Given the description of an element on the screen output the (x, y) to click on. 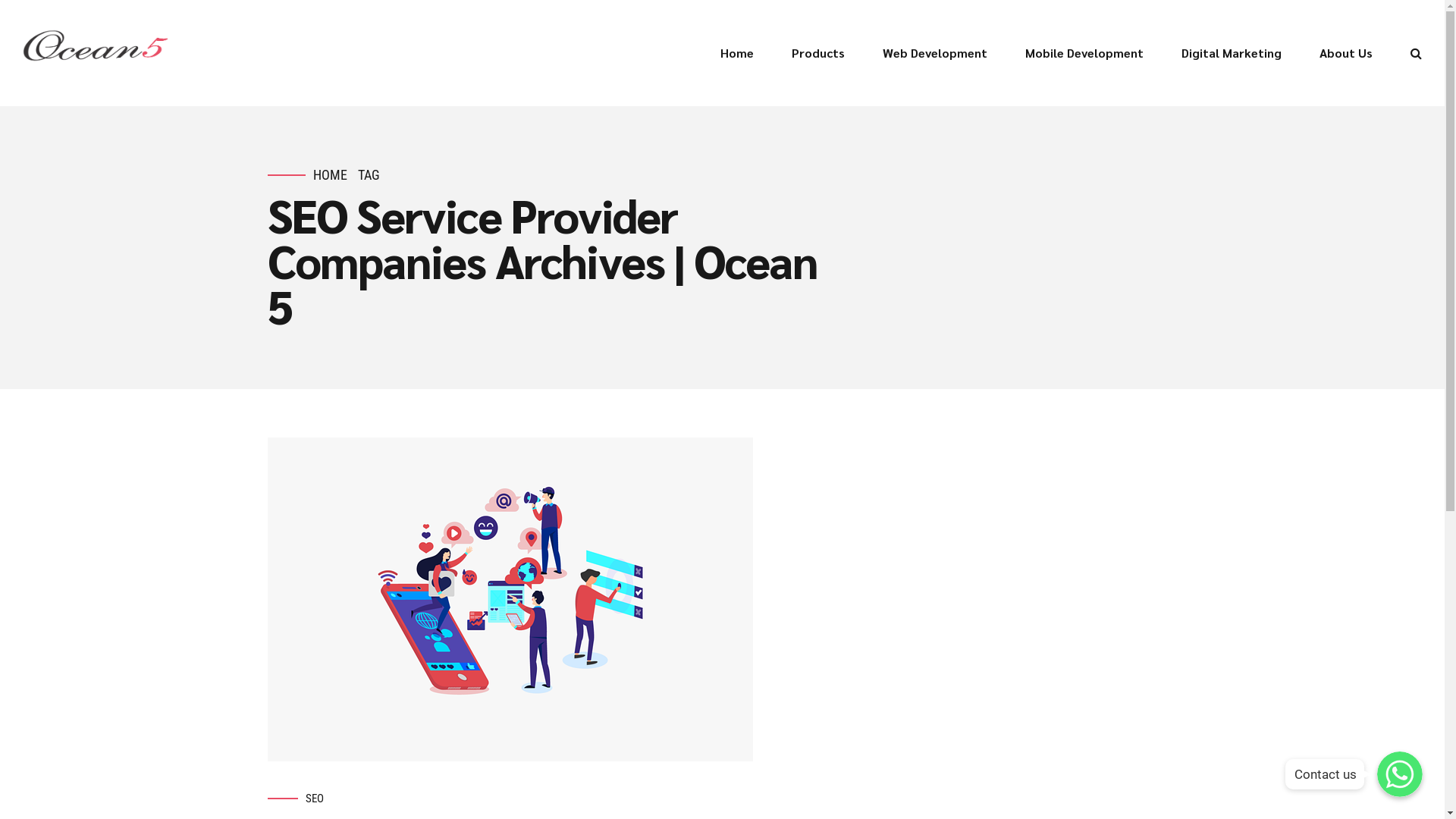
Mobile Development Element type: text (1084, 53)
Best Traits of a SEO Service Provider Companies Element type: hover (721, 599)
Home Element type: text (736, 53)
About Us Element type: text (1345, 53)
Products Element type: text (817, 53)
Whatsapp Element type: text (1399, 774)
HOME Element type: text (329, 175)
Digital Marketing Element type: text (1231, 53)
SEO Element type: text (313, 798)
Web Development Element type: text (934, 53)
